Given the description of an element on the screen output the (x, y) to click on. 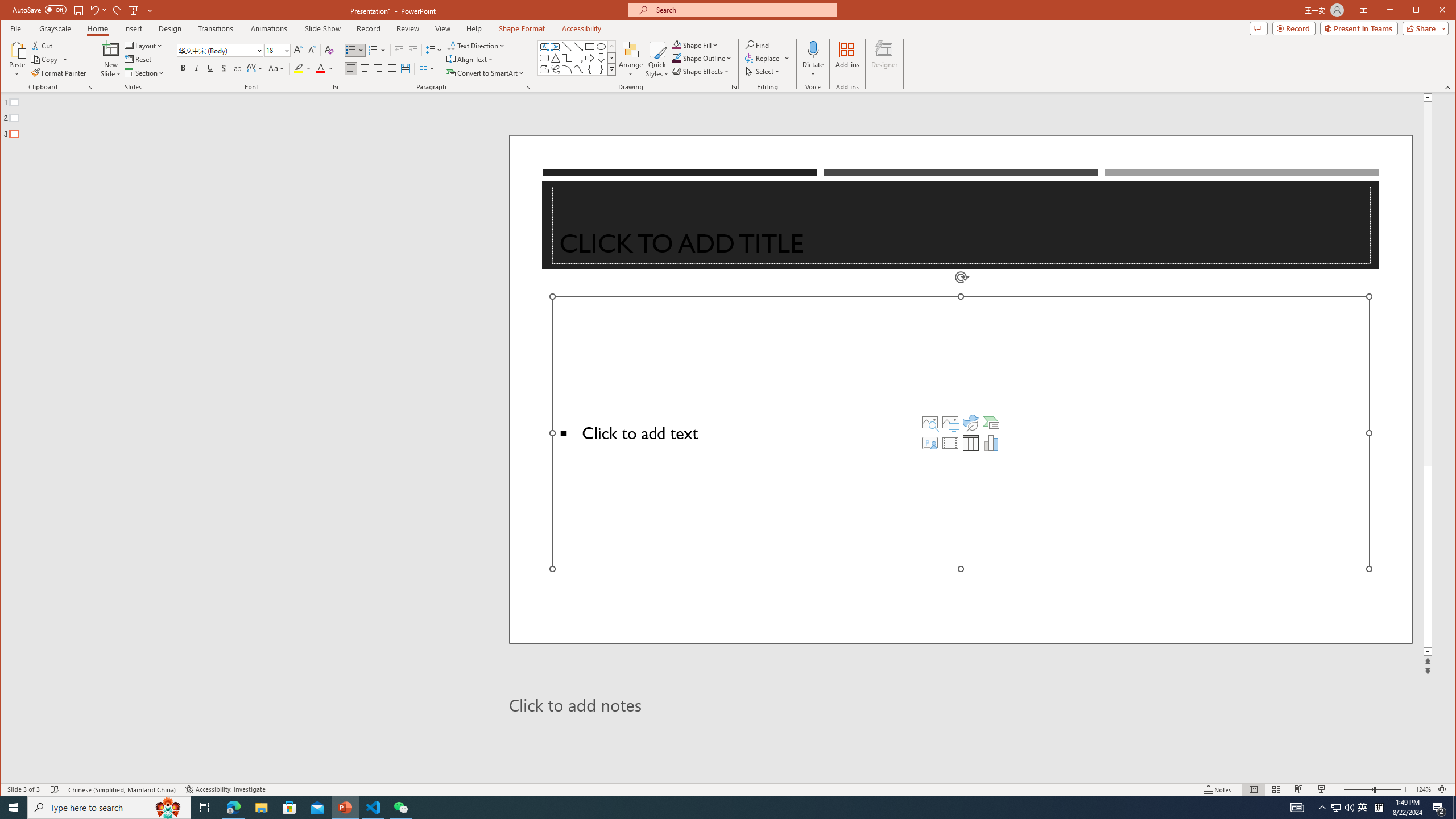
Content Placeholder (960, 432)
